Given the description of an element on the screen output the (x, y) to click on. 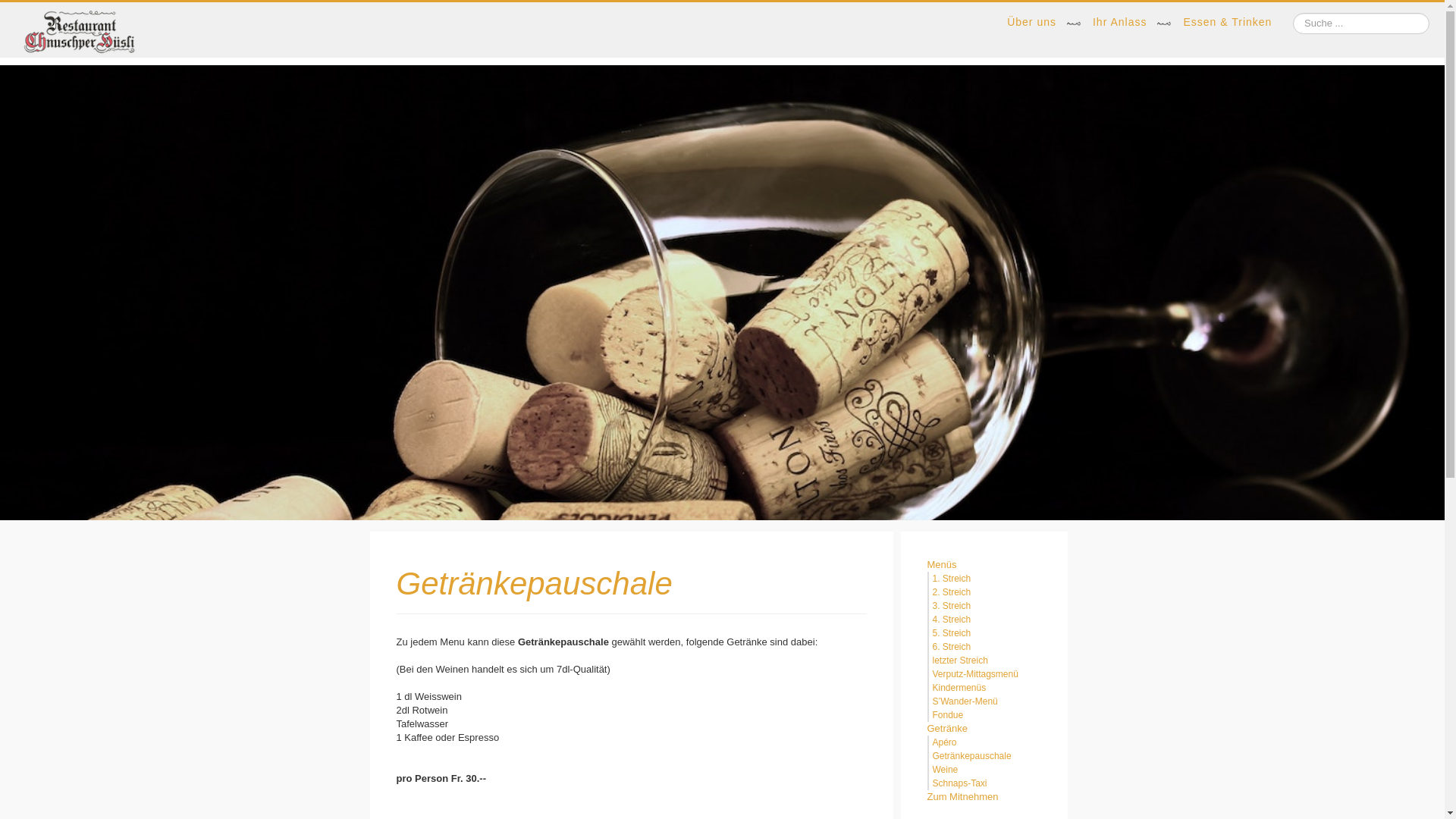
Essen & Trinken Element type: text (1227, 22)
2. Streich Element type: text (951, 591)
5. Streich Element type: text (951, 632)
Ihr Anlass Element type: text (1119, 22)
4. Streich Element type: text (951, 619)
Schnaps-Taxi Element type: text (959, 783)
6. Streich Element type: text (951, 646)
Weine Element type: text (945, 769)
Zum Mitnehmen Element type: text (971, 796)
Fondue Element type: text (947, 714)
letzter Streich Element type: text (960, 660)
1. Streich Element type: text (951, 578)
3. Streich Element type: text (951, 605)
